Given the description of an element on the screen output the (x, y) to click on. 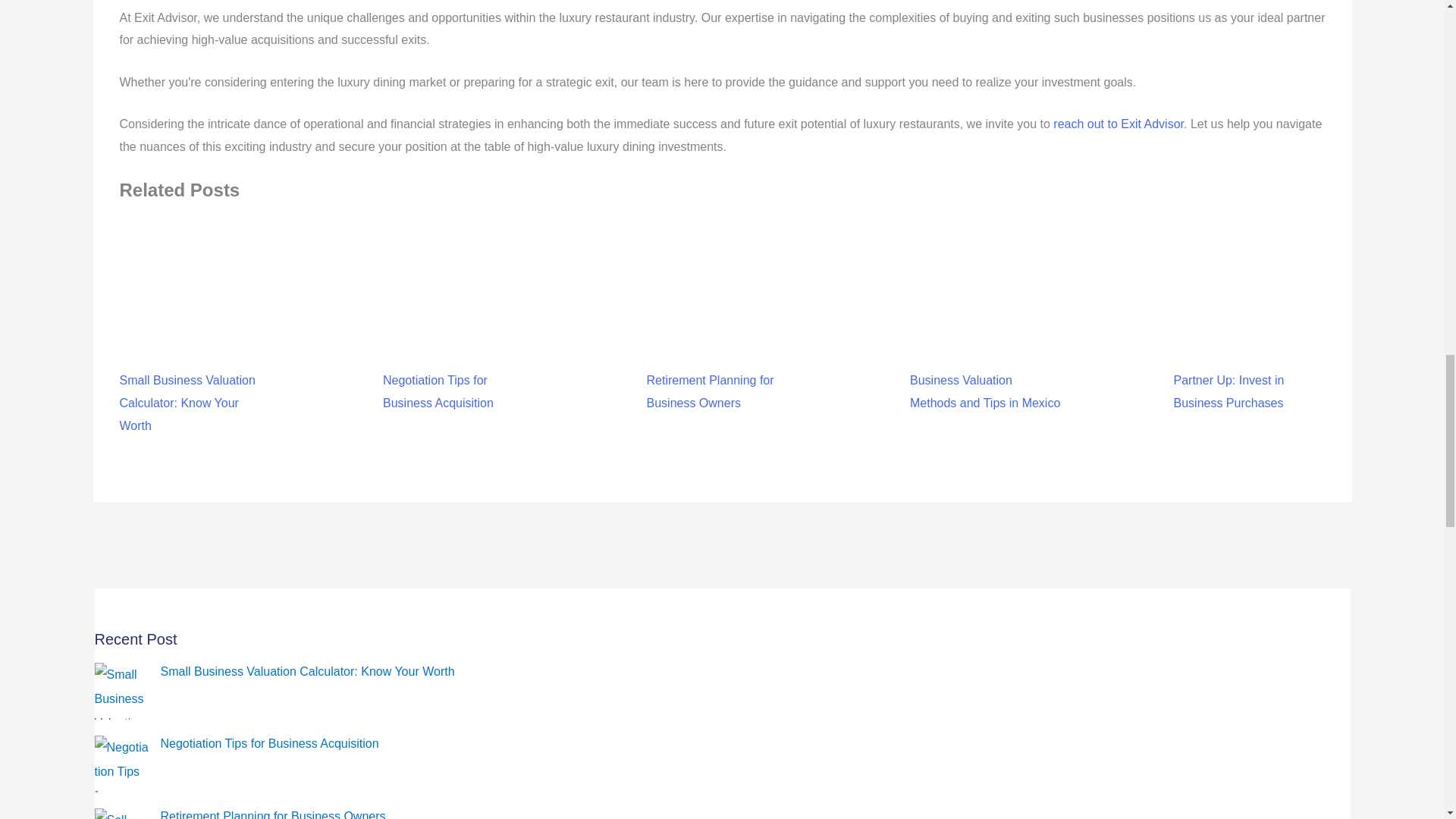
Negotiation Tips for Business Acquisition (458, 347)
Small Business Valuation Calculator: Know Your Worth (194, 359)
Partner Up: Invest in Business Purchases (1248, 347)
reach out to Exit Advisor (1117, 123)
reach out to Exit Advisor (1117, 123)
Retirement Planning for Business Owners (721, 347)
Small Business Valuation Calculator: Know Your Worth (307, 671)
Business Valuation Methods and Tips in Mexico (985, 347)
Retirement Planning for Business Owners (272, 814)
Negotiation Tips for Business Acquisition (269, 743)
